Given the description of an element on the screen output the (x, y) to click on. 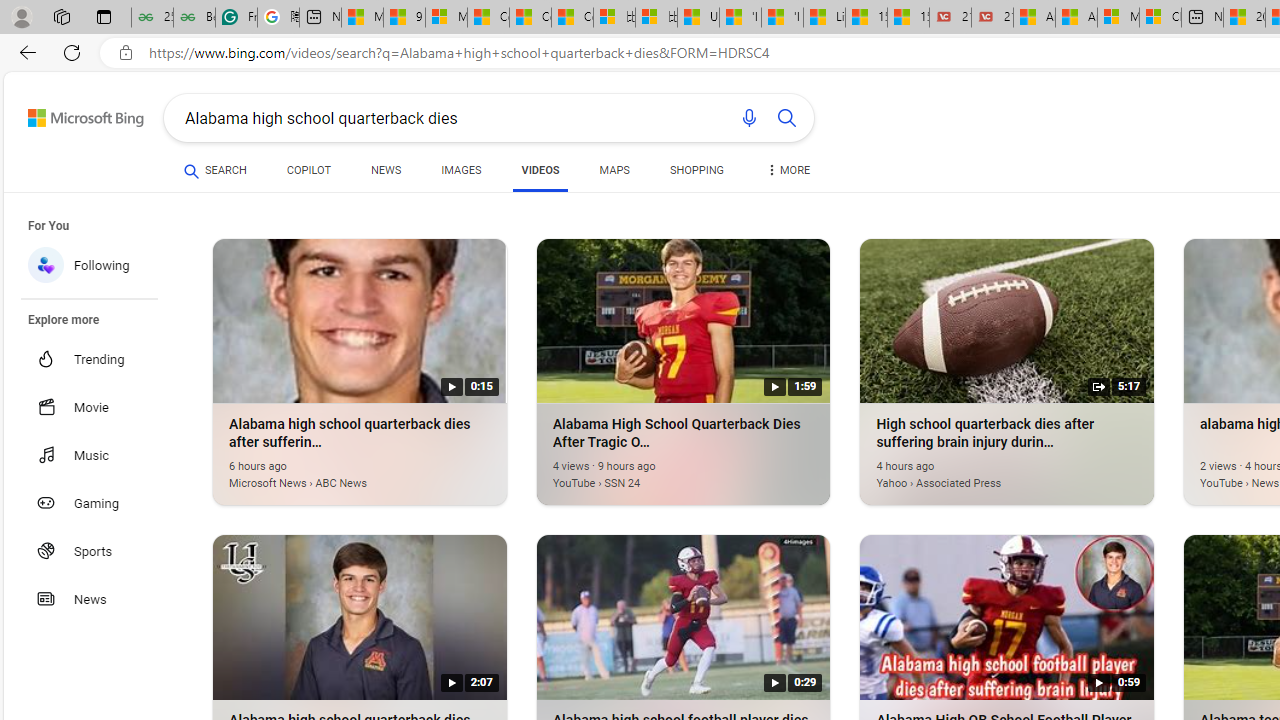
MAPS (614, 173)
Cloud Computing Services | Microsoft Azure (1160, 17)
SHOPPING (696, 170)
25 Basic Linux Commands For Beginners - GeeksforGeeks (151, 17)
Back to Bing search (73, 113)
